Given the description of an element on the screen output the (x, y) to click on. 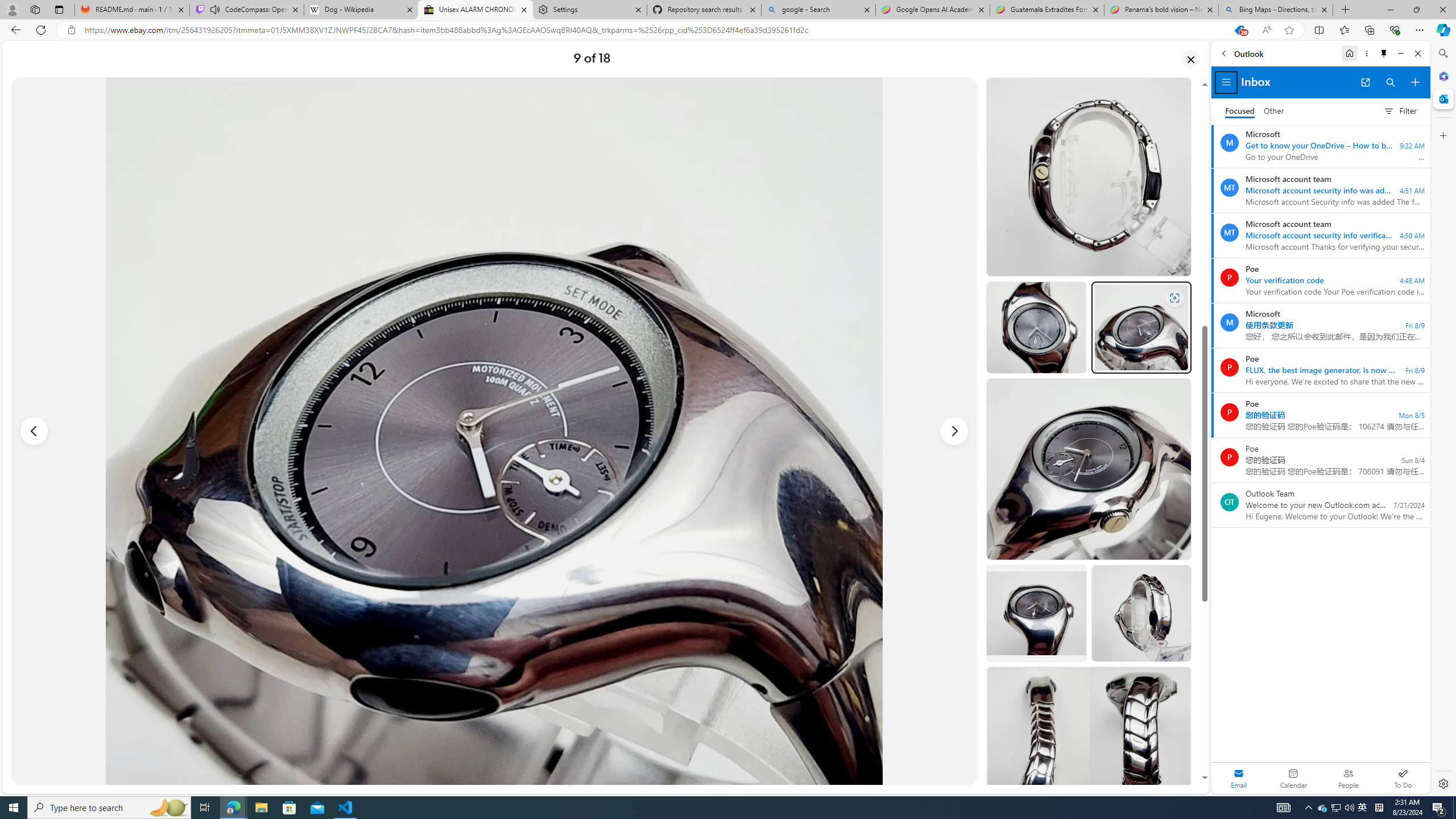
Customize (1442, 135)
Microsoft 365 (1442, 76)
More options (1366, 53)
Focused Inbox, toggle to go to Other Inbox (1254, 110)
Back (1223, 53)
Close Outlook pane (1442, 98)
Home (1348, 53)
Compose new mail (1414, 82)
Personal Profile (12, 9)
